Given the description of an element on the screen output the (x, y) to click on. 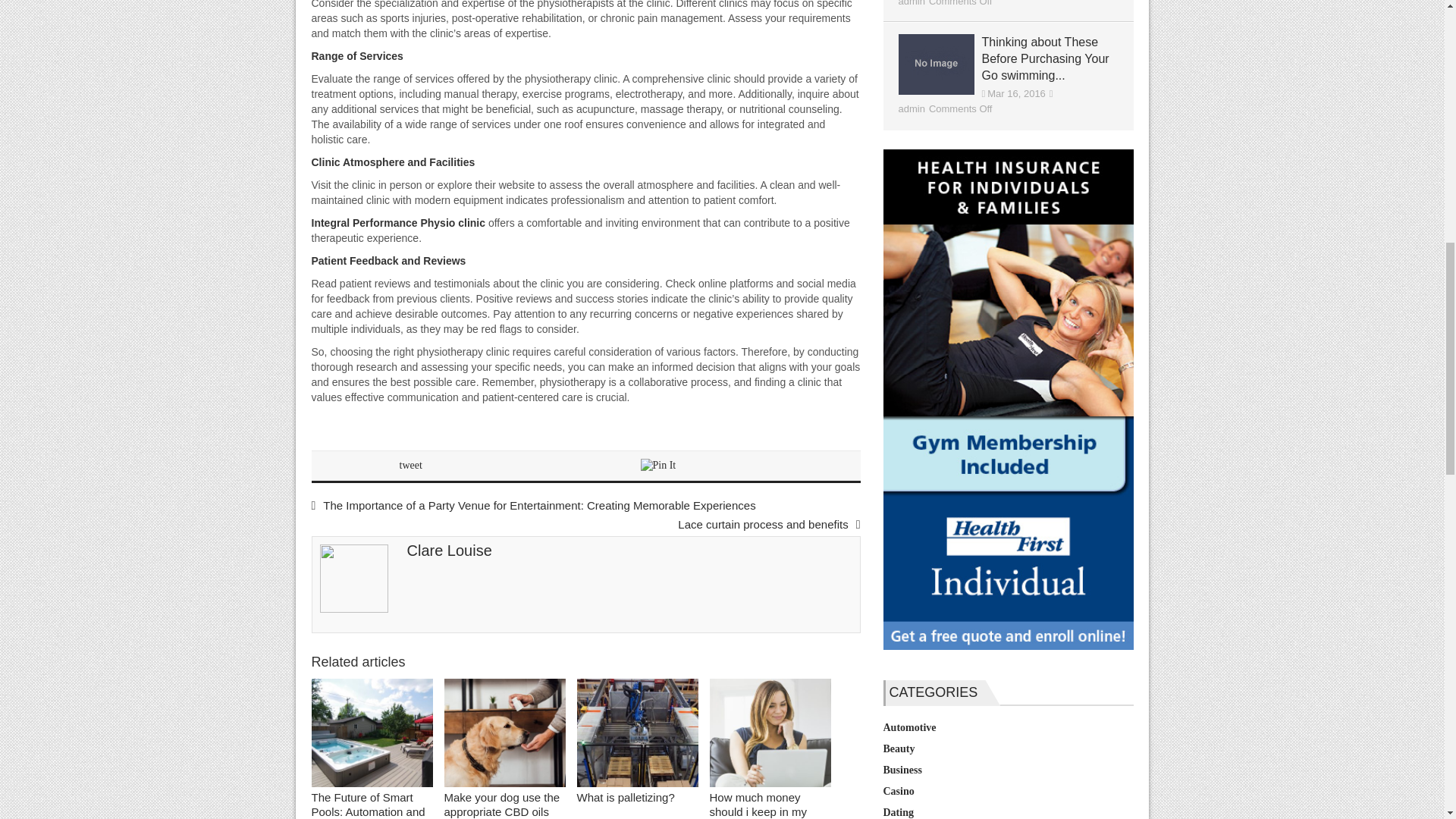
Clare Louise (449, 550)
Make your dog use the appropriate CBD oils for certain time (505, 734)
Pin It (657, 465)
Integral Performance Physio clinic (397, 223)
